Given the description of an element on the screen output the (x, y) to click on. 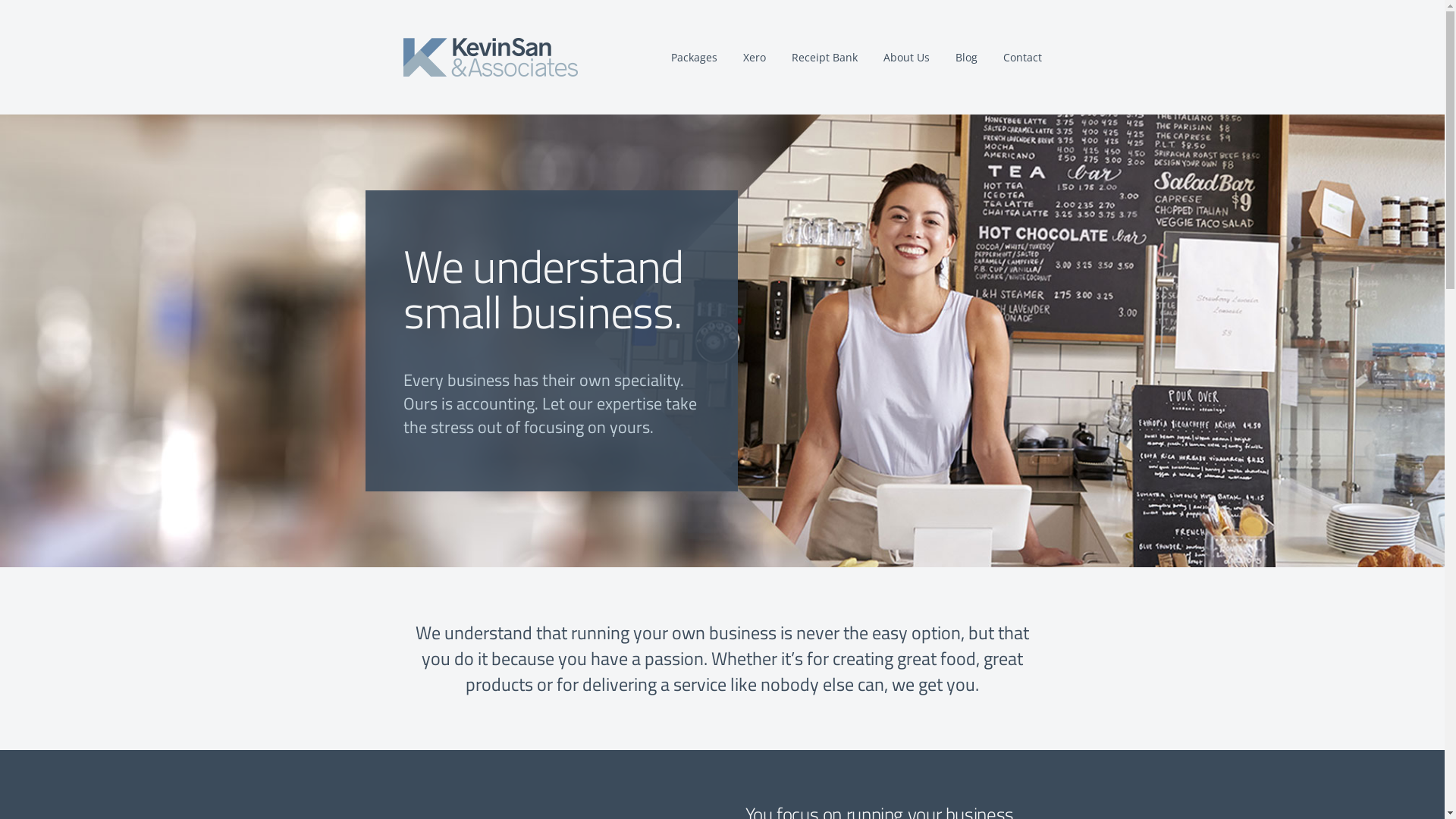
About Us Element type: text (905, 57)
Receipt Bank Element type: text (824, 57)
Xero Element type: text (754, 57)
Contact Element type: text (1021, 57)
Packages Element type: text (693, 57)
Blog Element type: text (966, 57)
